Given the description of an element on the screen output the (x, y) to click on. 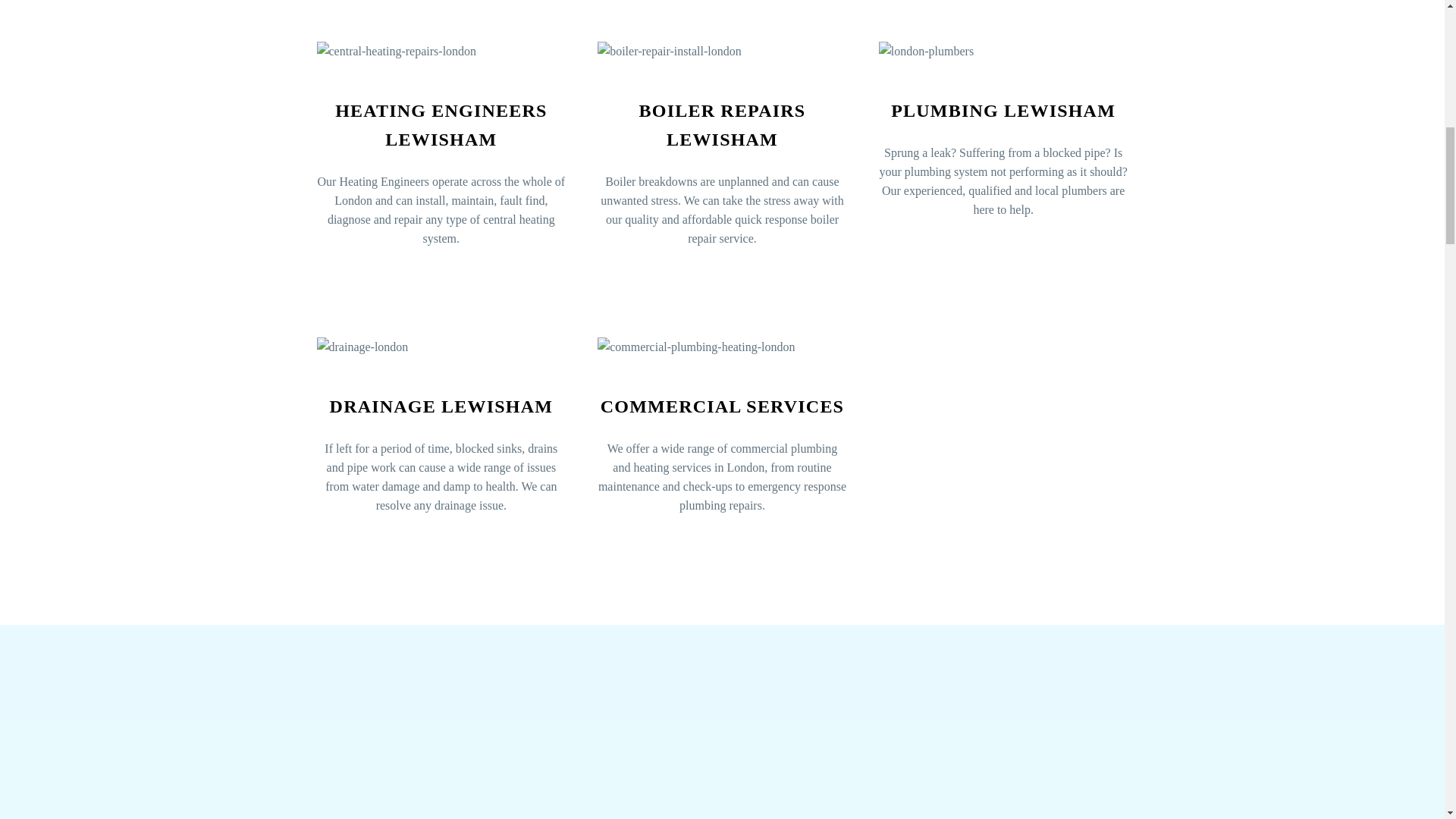
boiler-repair-install-london (668, 50)
central-heating-repairs-london (397, 50)
london-plumbers (926, 50)
drainage-london (363, 346)
commercial-plumbing-heating-london (695, 346)
